Given the description of an element on the screen output the (x, y) to click on. 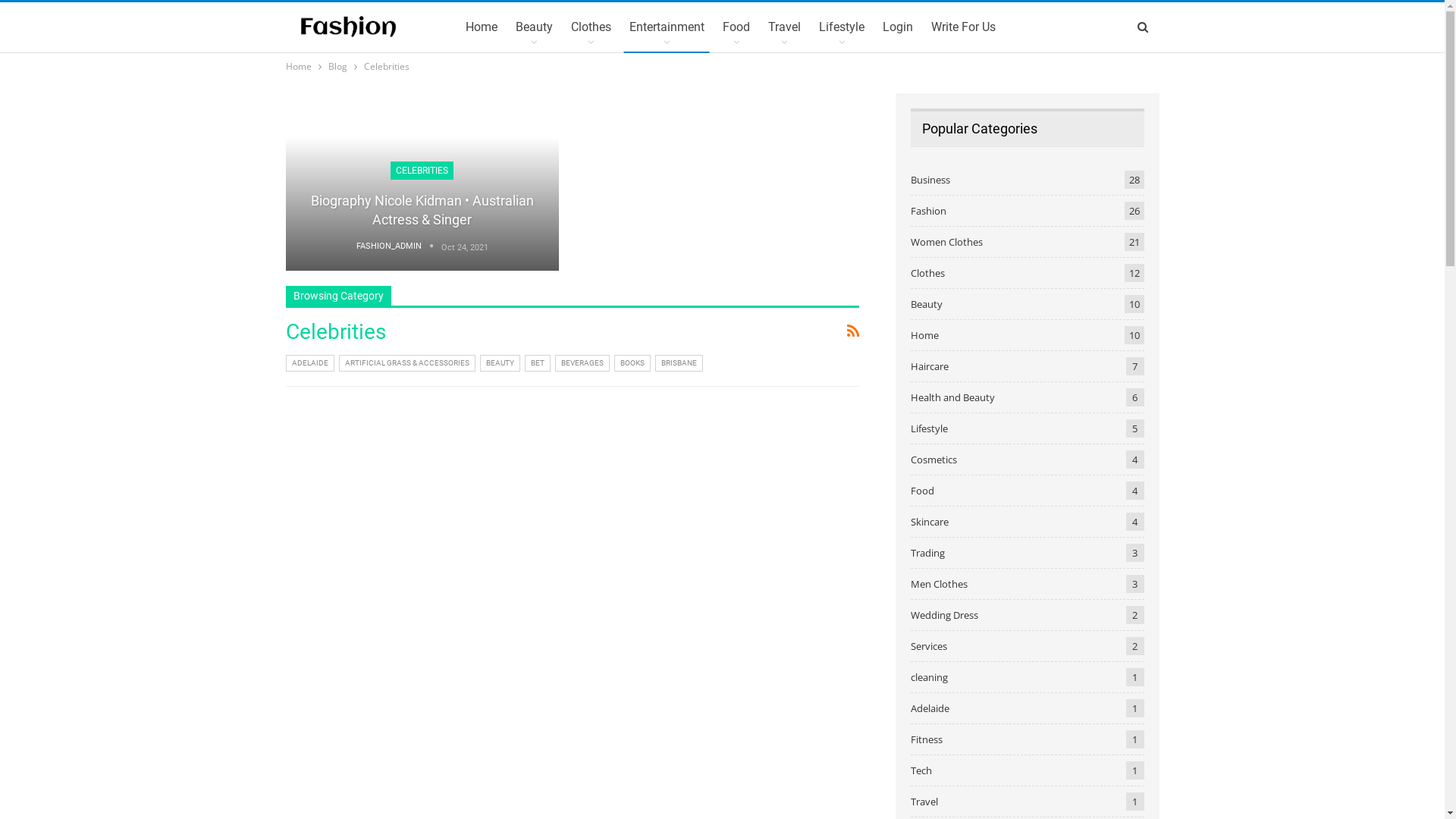
BET Element type: text (537, 362)
cleaning
1 Element type: text (928, 677)
Women Clothes
21 Element type: text (946, 241)
Fitness
1 Element type: text (925, 739)
Clothes Element type: text (590, 27)
Skincare
4 Element type: text (928, 521)
Write For Us Element type: text (963, 27)
BEVERAGES Element type: text (582, 362)
Men Clothes
3 Element type: text (938, 583)
Beauty
10 Element type: text (925, 303)
Travel
1 Element type: text (923, 801)
Adelaide
1 Element type: text (929, 708)
BEAUTY Element type: text (499, 362)
Blog Element type: text (336, 66)
Clothes
12 Element type: text (927, 272)
Haircare
7 Element type: text (928, 366)
Home Element type: text (481, 27)
Login Element type: text (897, 27)
Food
4 Element type: text (921, 490)
Trading
3 Element type: text (927, 552)
ADELAIDE Element type: text (309, 362)
Lifestyle
5 Element type: text (928, 428)
Entertainment Element type: text (666, 27)
Services
2 Element type: text (928, 645)
Food Element type: text (736, 27)
BOOKS Element type: text (632, 362)
ARTIFICIAL GRASS & ACCESSORIES Element type: text (406, 362)
Tech
1 Element type: text (920, 770)
Fashion
26 Element type: text (927, 210)
FASHION_ADMIN Element type: text (398, 246)
BRISBANE Element type: text (678, 362)
Health and Beauty
6 Element type: text (952, 397)
Travel Element type: text (784, 27)
Business
28 Element type: text (929, 179)
Beauty Element type: text (534, 27)
Home
10 Element type: text (924, 335)
Wedding Dress 
2 Element type: text (944, 614)
Home Element type: text (297, 66)
Cosmetics
4 Element type: text (933, 459)
CELEBRITIES Element type: text (421, 170)
Lifestyle Element type: text (841, 27)
